Given the description of an element on the screen output the (x, y) to click on. 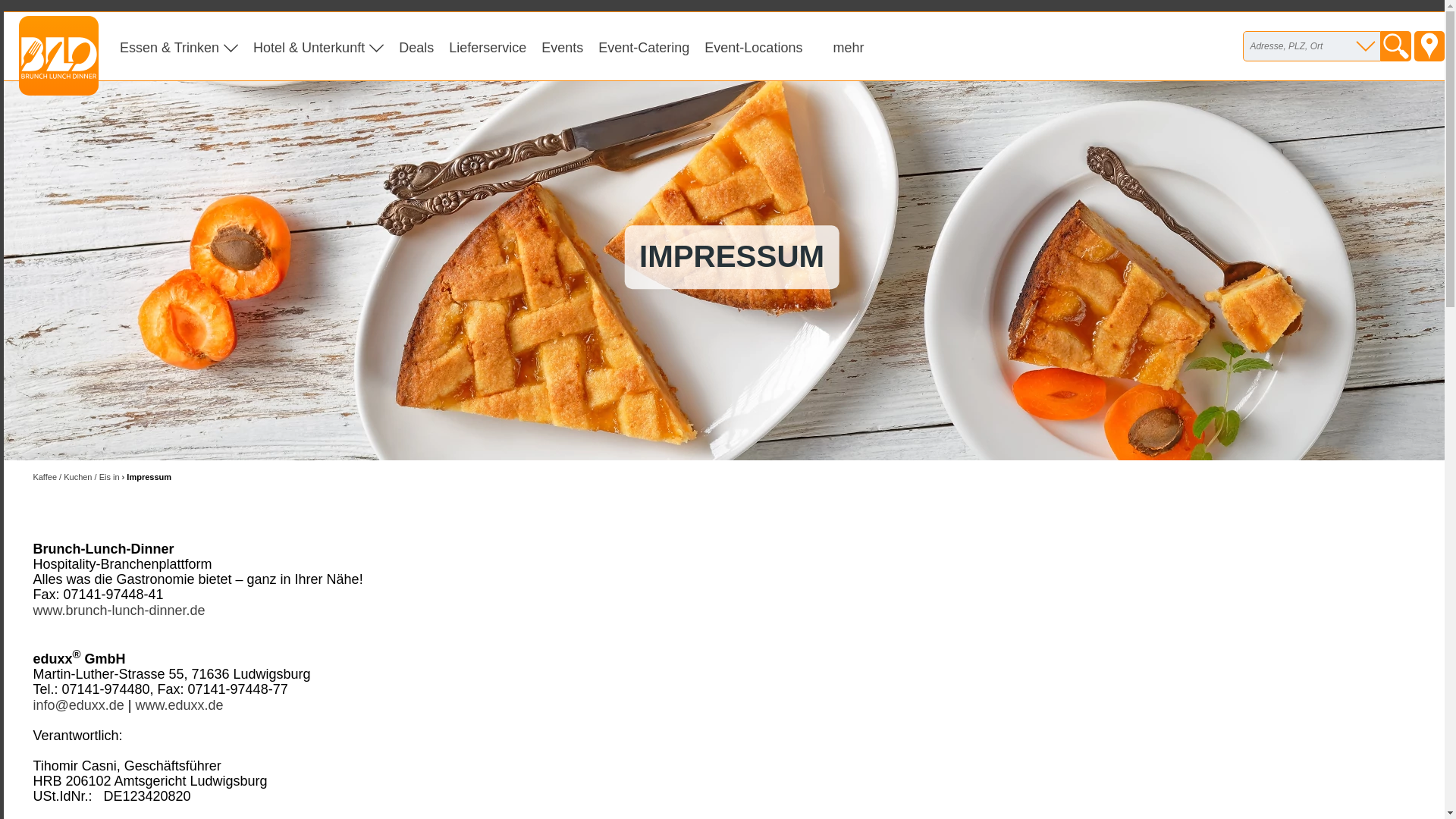
Suche starten Element type: hover (1395, 45)
Events Element type: text (561, 47)
Event-Catering Element type: text (643, 47)
mehr Element type: text (847, 47)
Lieferservice Element type: text (487, 47)
  Element type: text (1429, 45)
info@eduxx.de Element type: text (77, 704)
Hotel & Unterkunft Element type: text (318, 47)
Ihr Standort Element type: hover (1429, 45)
www.eduxx.de Element type: text (178, 704)
www.brunch-lunch-dinner.de Element type: text (118, 610)
Deals Element type: text (416, 47)
Event-Locations Element type: text (753, 47)
Essen & Trinken Element type: text (178, 47)
Kaffee / Kuchen / Eis in Element type: text (75, 476)
